Given the description of an element on the screen output the (x, y) to click on. 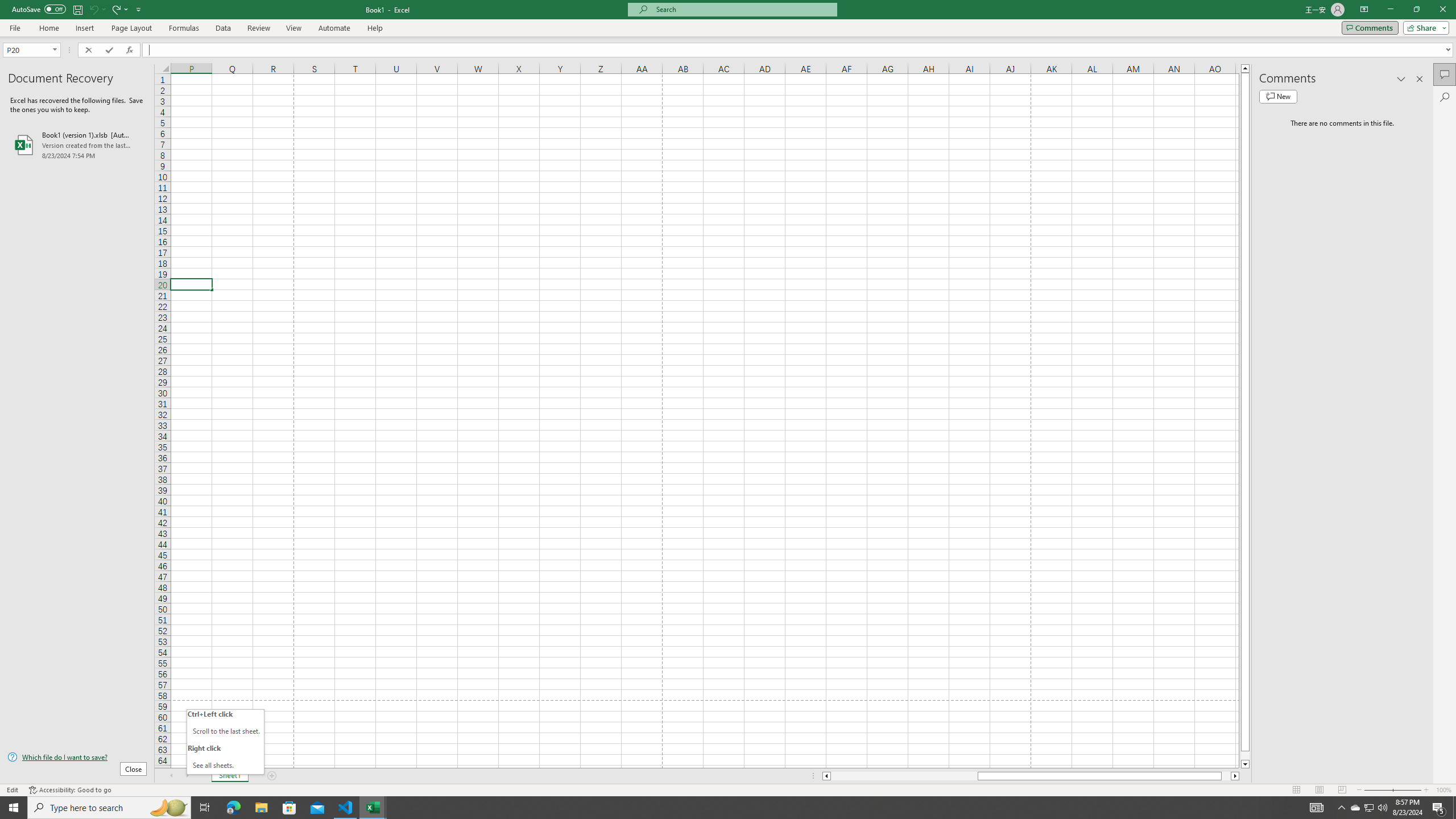
Help (374, 28)
Zoom (1392, 790)
Comments (1369, 27)
Line up (1245, 67)
System (6, 6)
Column right (1235, 775)
Redo (115, 9)
Zoom Out (1377, 790)
Automate (334, 28)
Save (77, 9)
AutoSave (38, 9)
System (6, 6)
Close (1442, 9)
Page Layout (1318, 790)
Insert (83, 28)
